Given the description of an element on the screen output the (x, y) to click on. 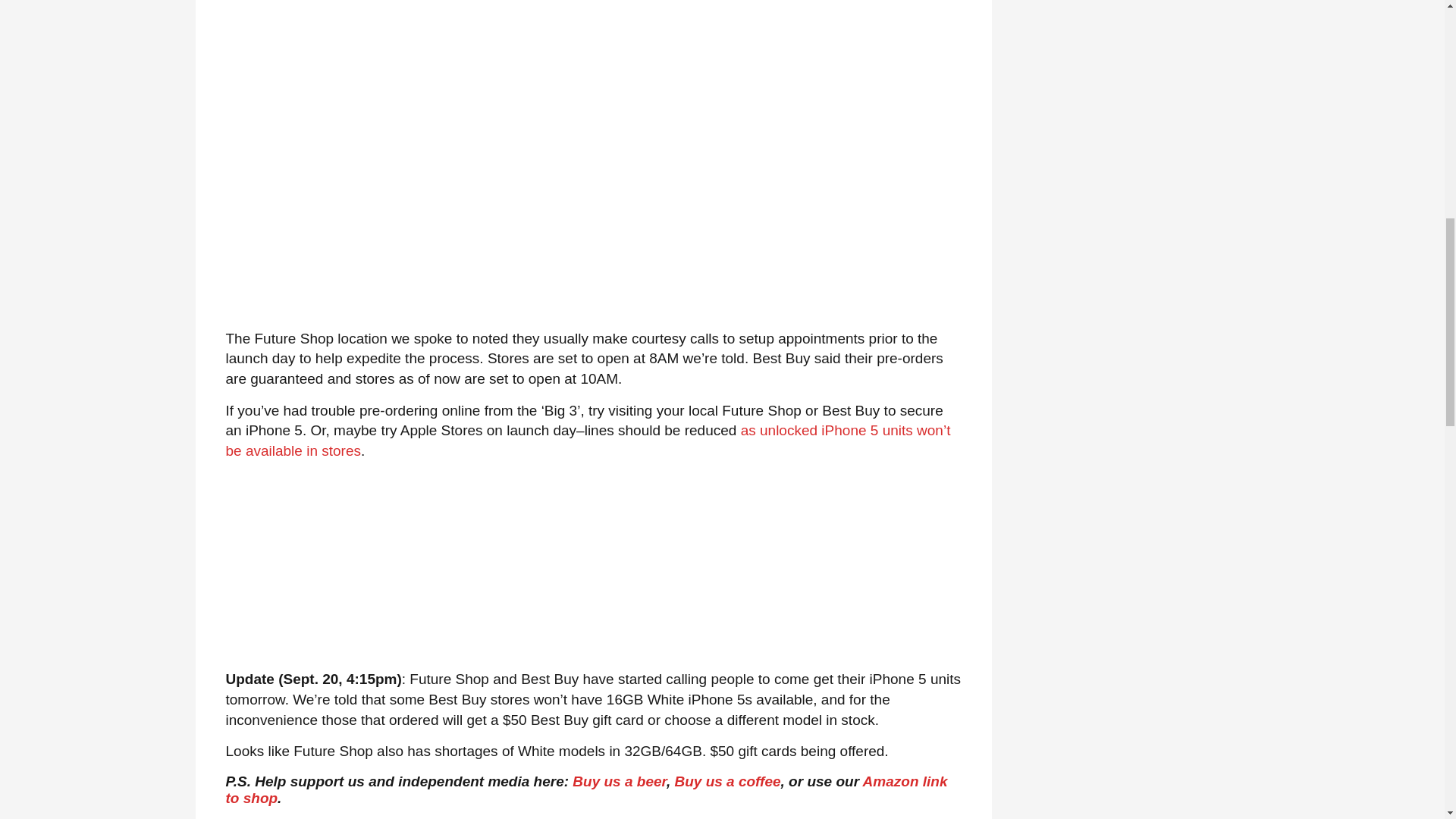
Buy us a beer (619, 781)
Buy us a coffee (727, 781)
